Given the description of an element on the screen output the (x, y) to click on. 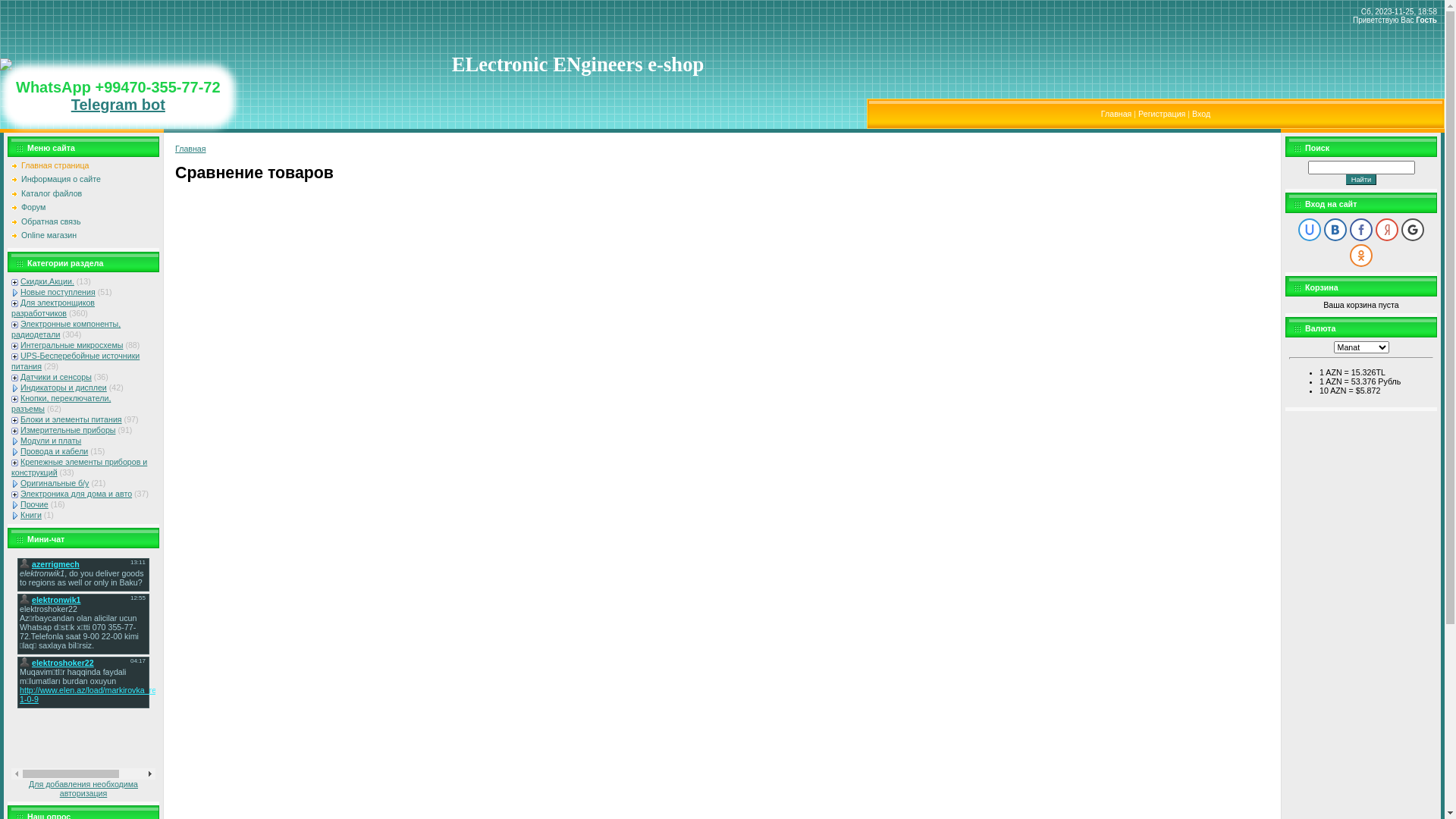
Telegram bot Element type: text (118, 104)
